Given the description of an element on the screen output the (x, y) to click on. 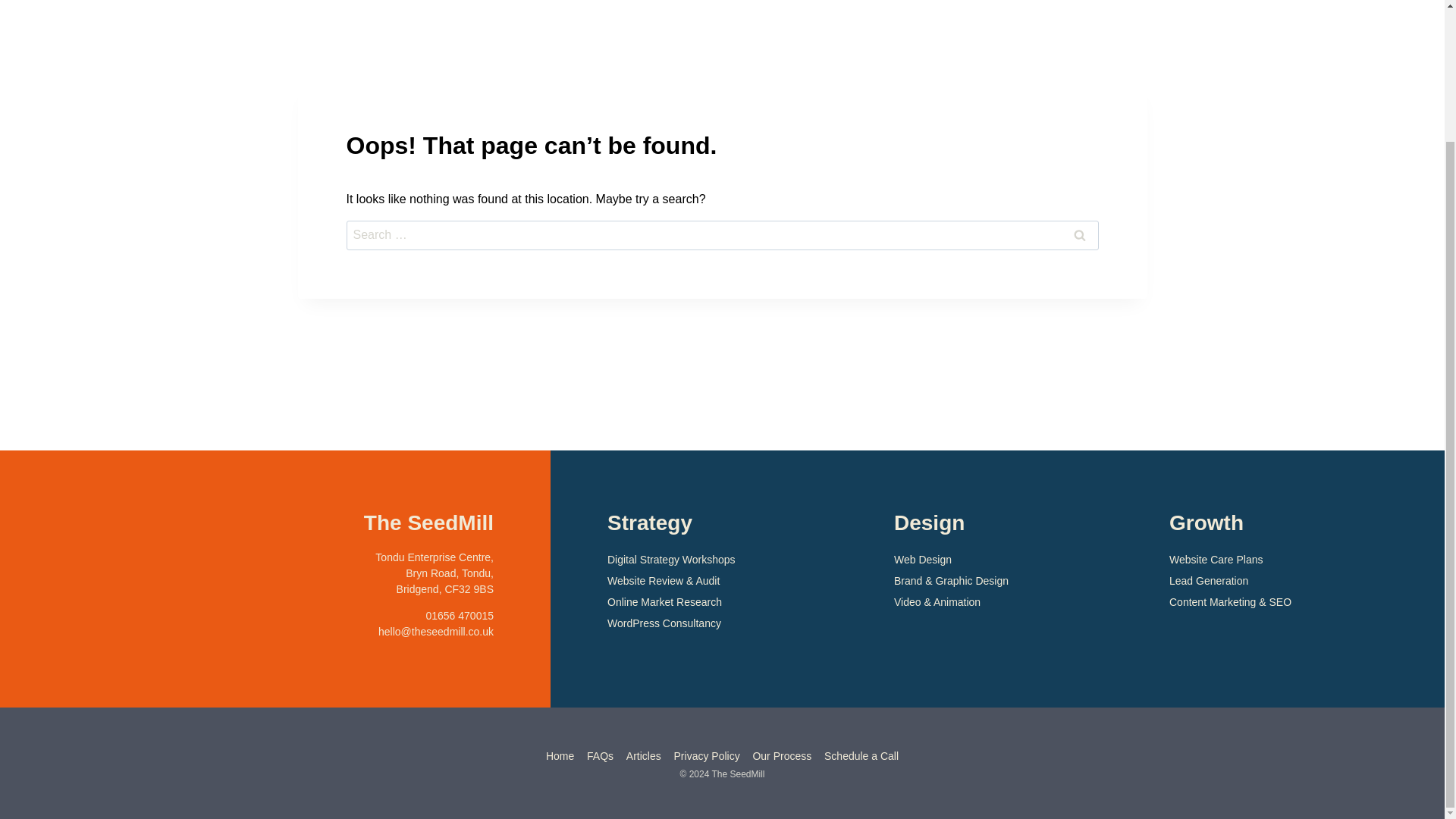
Online Market Research (727, 602)
Search (1078, 235)
Website Care Plans (1295, 559)
Lead Generation (1295, 581)
Search (1078, 235)
FAQs (600, 756)
Web Design (1008, 559)
Search (1078, 235)
Digital Strategy Workshops (727, 559)
WordPress Consultancy (727, 623)
Home (560, 756)
